Given the description of an element on the screen output the (x, y) to click on. 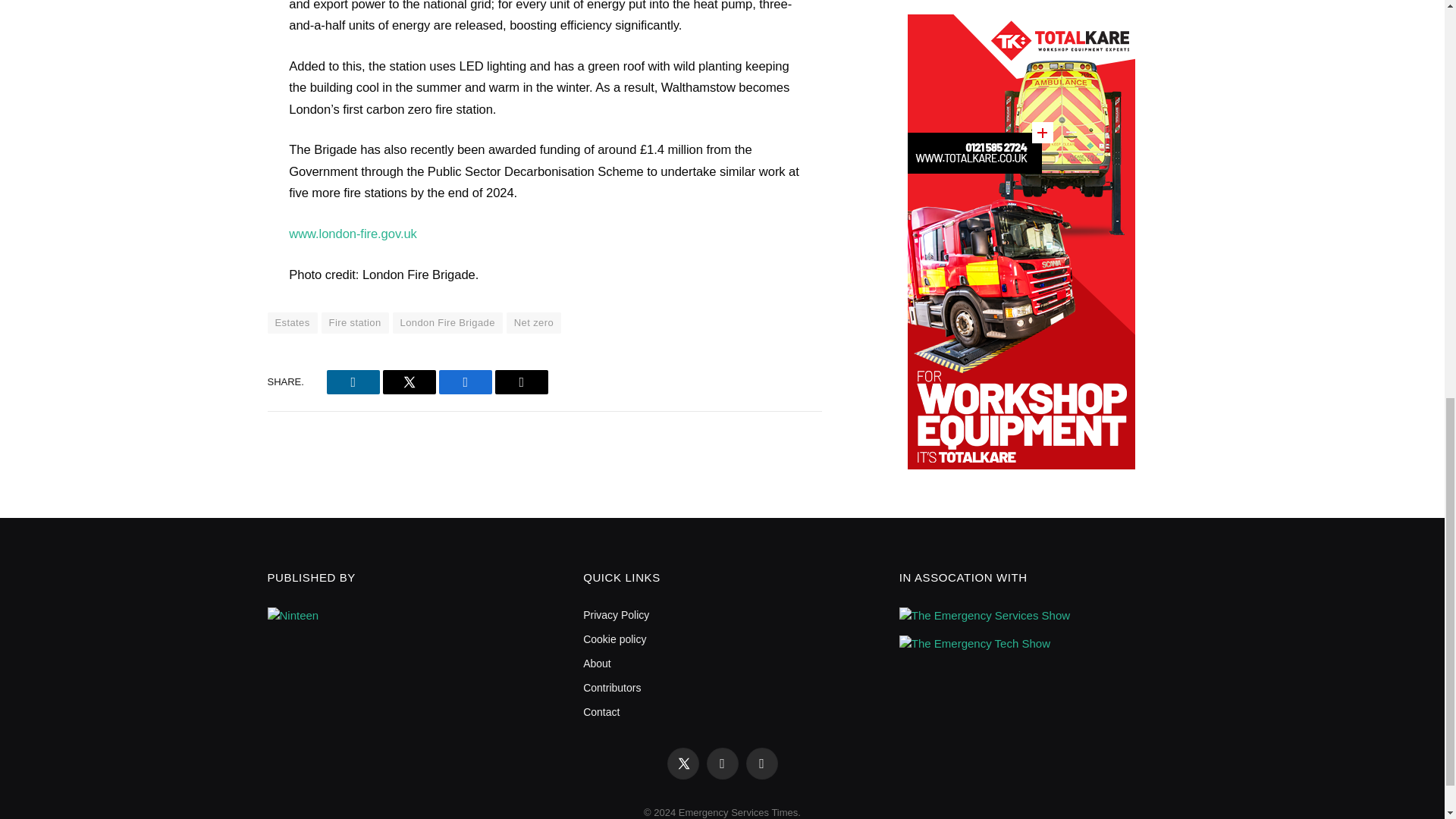
Share on LinkedIn (353, 381)
Share via Email (521, 381)
Share on Facebook (465, 381)
